Given the description of an element on the screen output the (x, y) to click on. 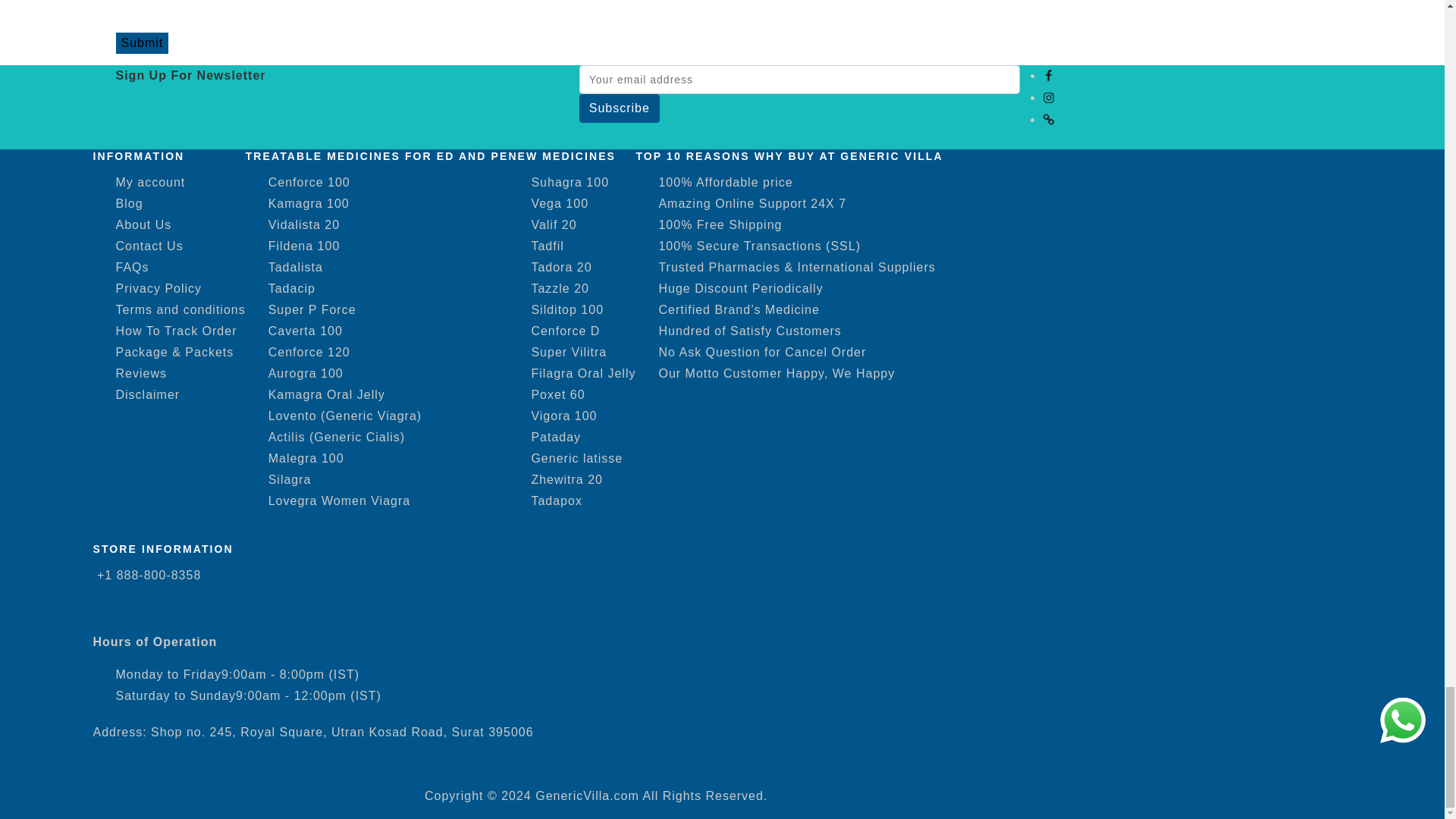
Submit (141, 43)
